Given the description of an element on the screen output the (x, y) to click on. 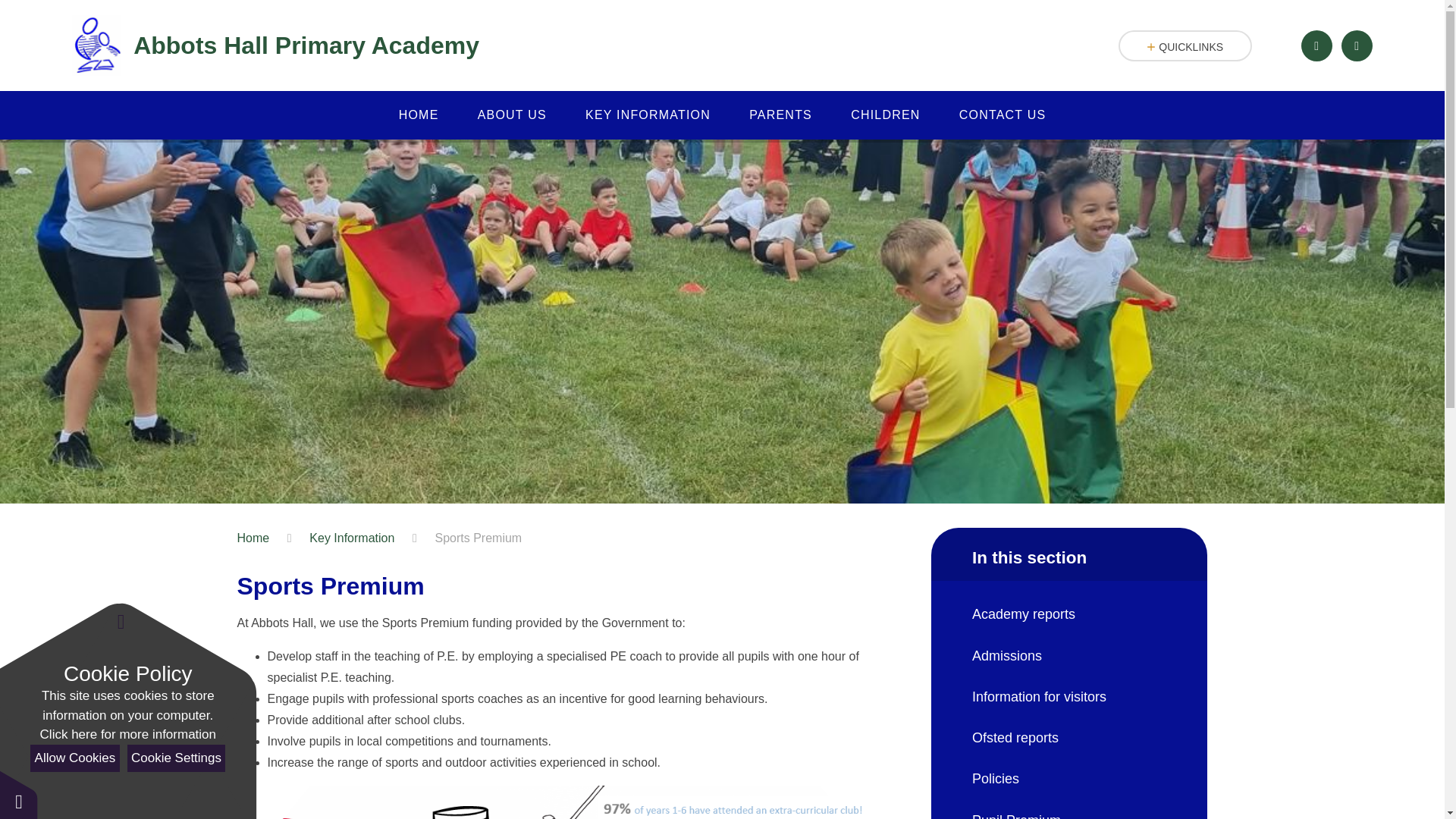
HOME (418, 114)
Cookie Settings (176, 758)
KEY INFORMATION (647, 114)
Allow Cookies (74, 758)
ABOUT US (512, 114)
Abbots Hall Primary Academy (275, 45)
See cookie policy (127, 734)
